Given the description of an element on the screen output the (x, y) to click on. 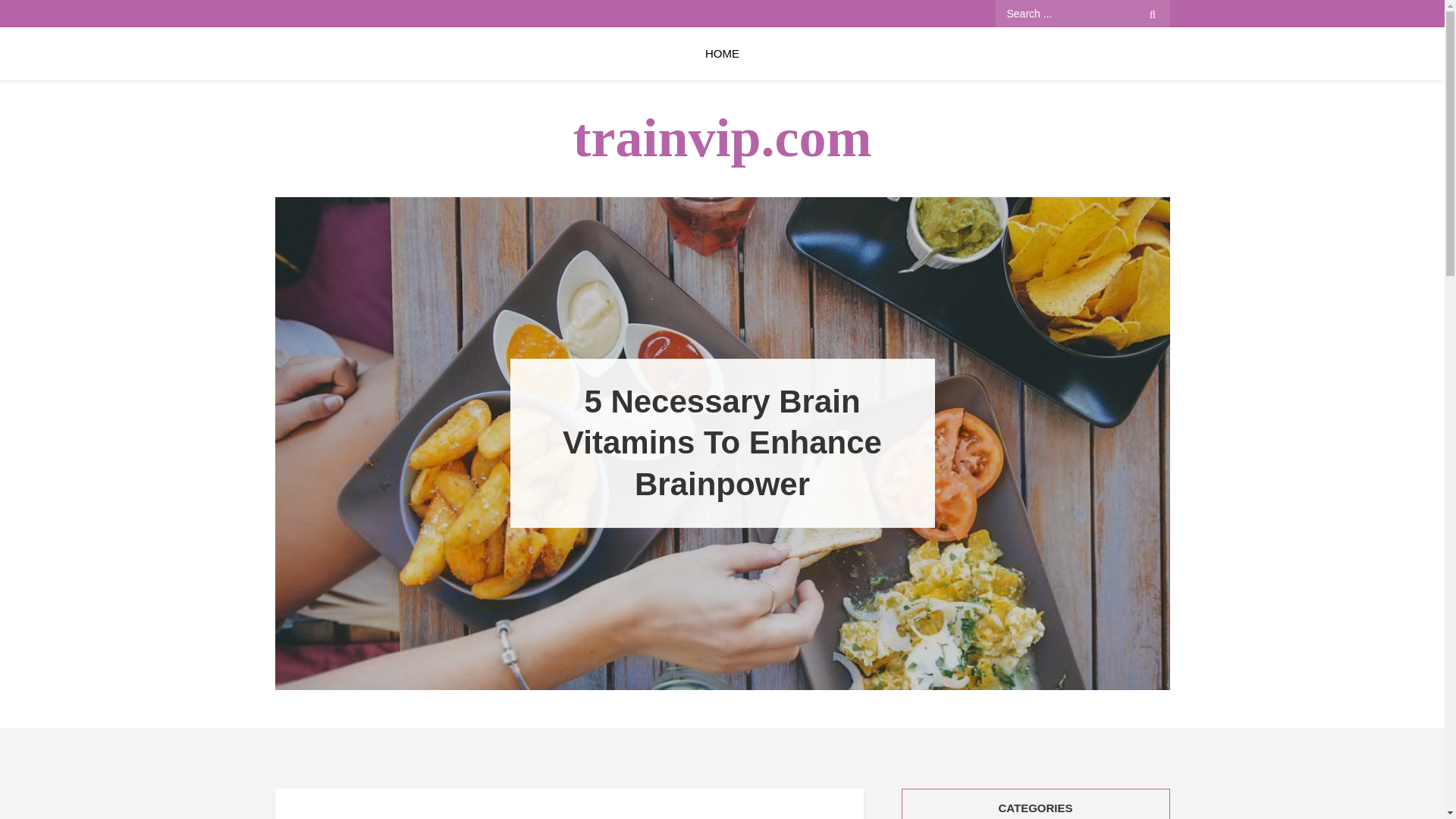
Search (1152, 13)
Search for: (1081, 13)
trainvip.com (722, 137)
HOME (721, 53)
